Given the description of an element on the screen output the (x, y) to click on. 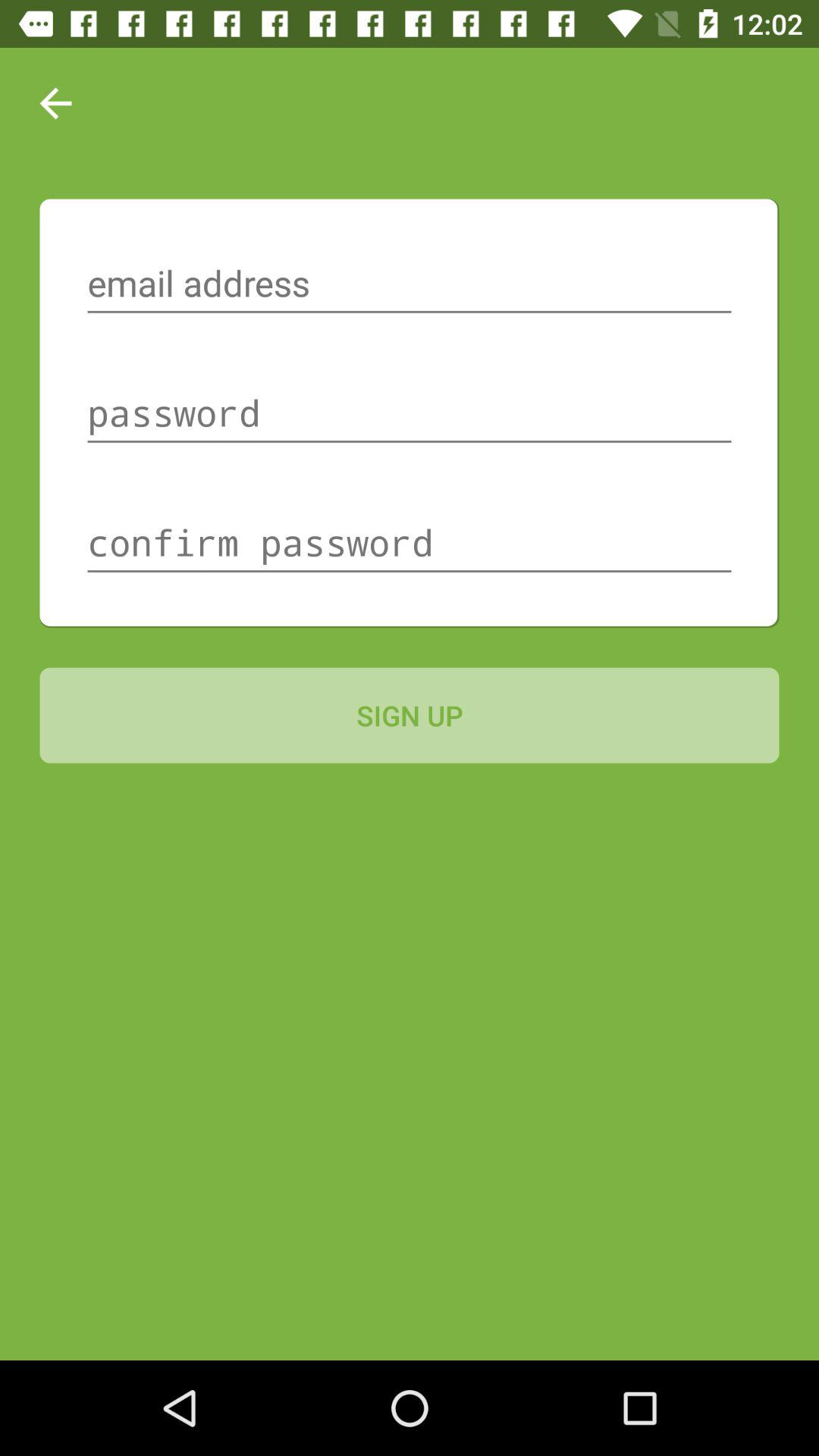
scroll to sign up item (409, 715)
